Given the description of an element on the screen output the (x, y) to click on. 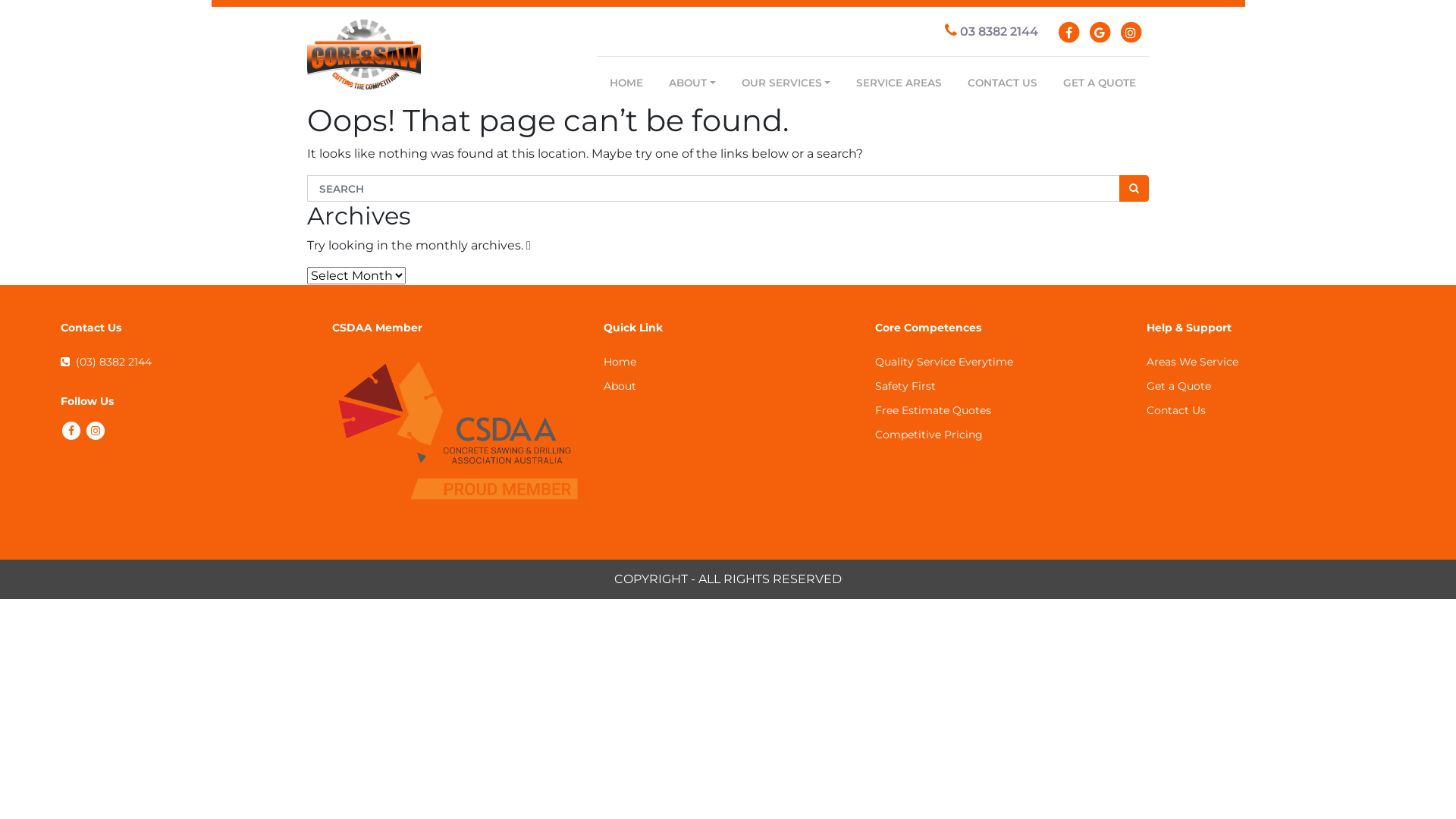
Free Estimate Quotes Element type: text (933, 410)
Contact Us Element type: text (1175, 410)
Quality Service Everytime Element type: text (944, 361)
Competitive Pricing Element type: text (928, 434)
Get a Quote Element type: text (1178, 385)
ABOUT Element type: text (691, 82)
Areas We Service Element type: text (1192, 361)
03 8382 2144 Element type: text (991, 31)
SERVICE AREAS Element type: text (898, 82)
HOME Element type: text (626, 82)
About Element type: text (619, 385)
Home Element type: text (619, 361)
(03) 8382 2144 Element type: text (105, 361)
OUR SERVICES Element type: text (785, 82)
CONTACT US Element type: text (1002, 82)
Safety First Element type: text (905, 385)
GET A QUOTE Element type: text (1099, 82)
